Given the description of an element on the screen output the (x, y) to click on. 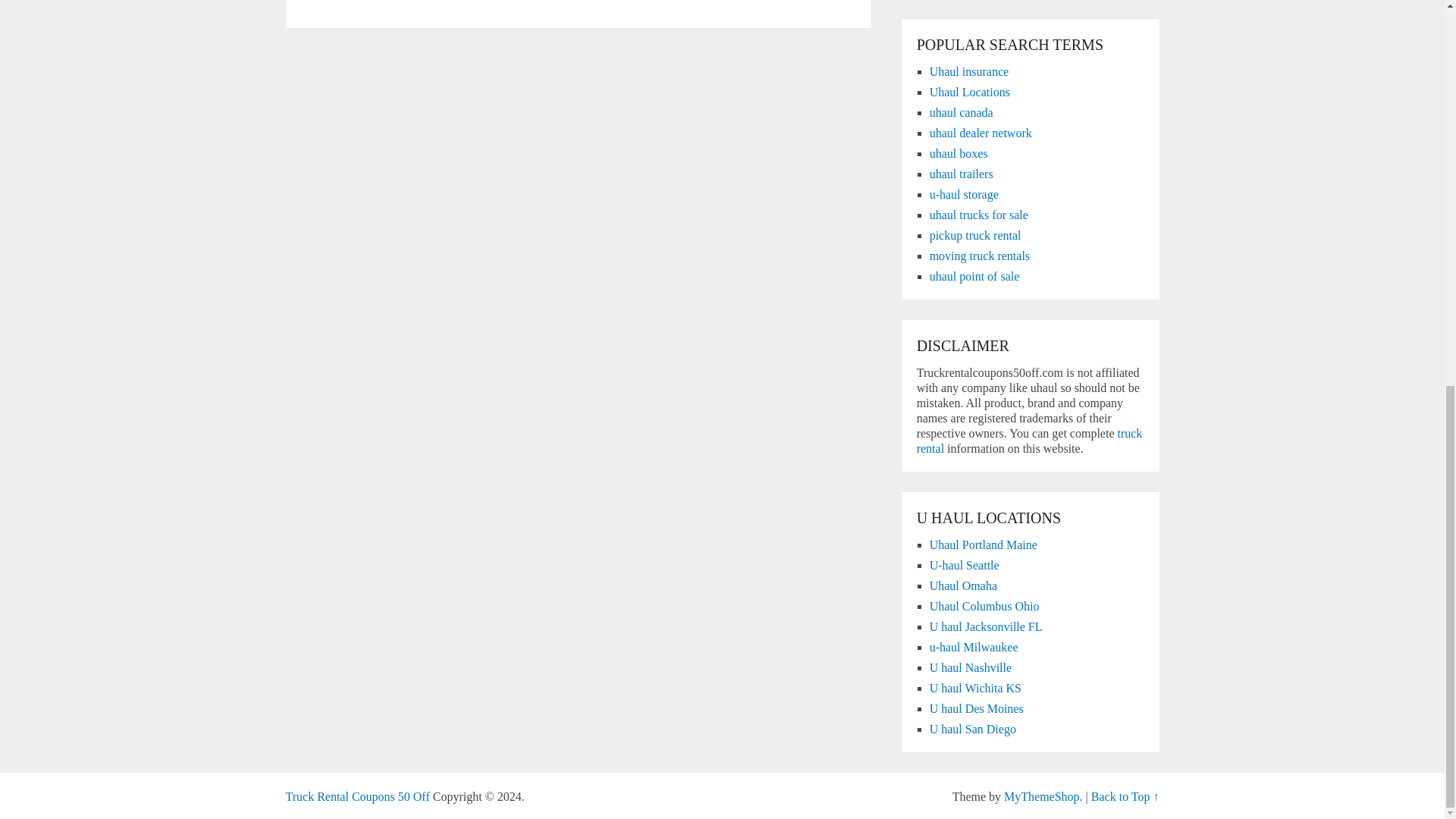
u-haul storage (964, 194)
moving truck rentals (979, 255)
Truck Rental Coupons 50 Off (357, 796)
uhaul canada (961, 112)
U haul Wichita KS (976, 687)
MyThemeShop (1042, 796)
U haul San Diego (973, 728)
Uhaul Locations (970, 91)
uhaul boxes (959, 153)
truck rental (1029, 440)
U haul Des Moines (976, 707)
pickup truck rental (976, 235)
uhaul trucks for sale (978, 214)
Uhaul Columbus Ohio (984, 605)
uhaul trailers (961, 173)
